Given the description of an element on the screen output the (x, y) to click on. 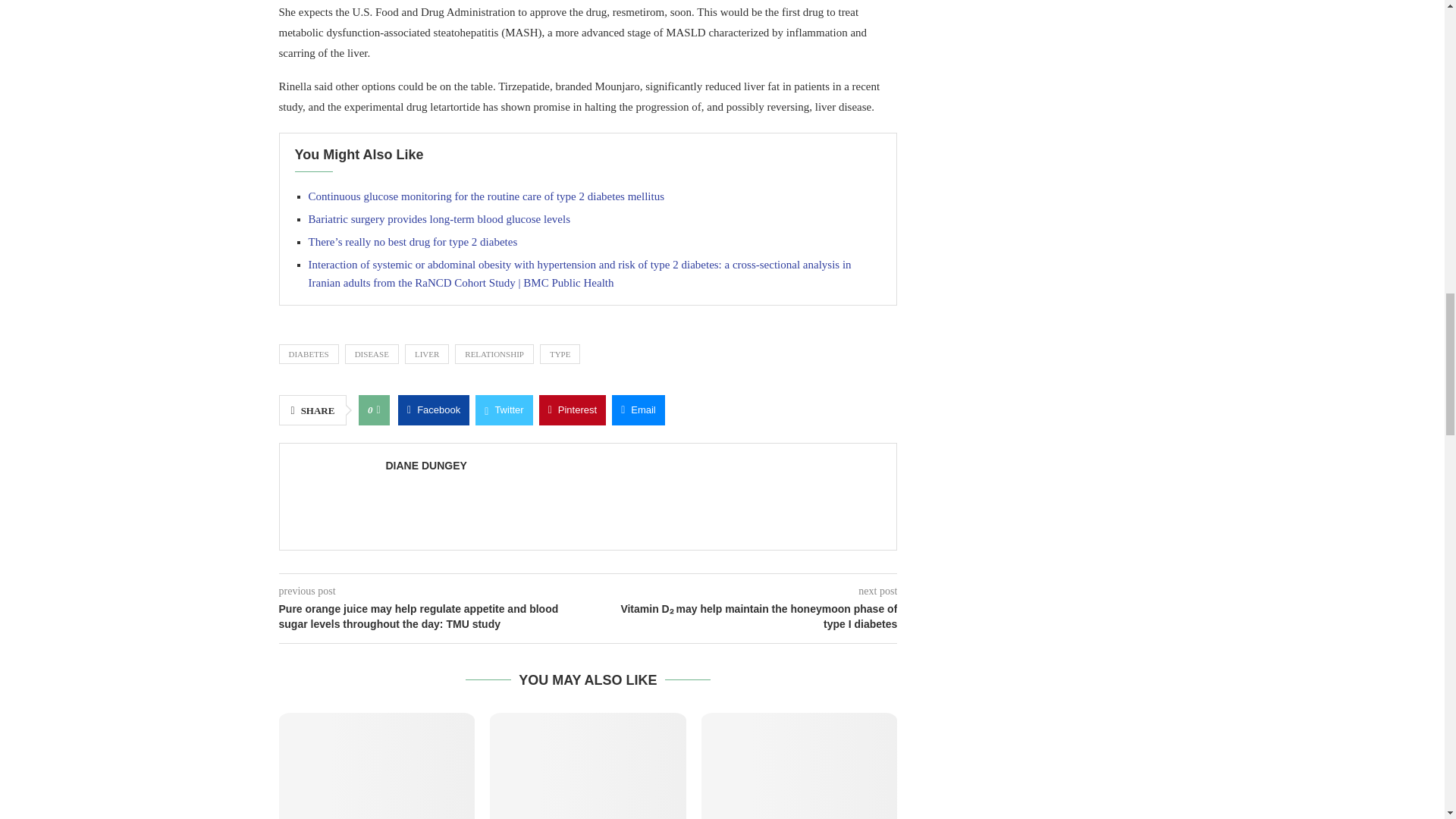
Study reveals which type 2 diabetes drugs are most effective (587, 765)
Author Diane Dungey (425, 465)
Irregular sleep patterns may increase risk (377, 765)
